Given the description of an element on the screen output the (x, y) to click on. 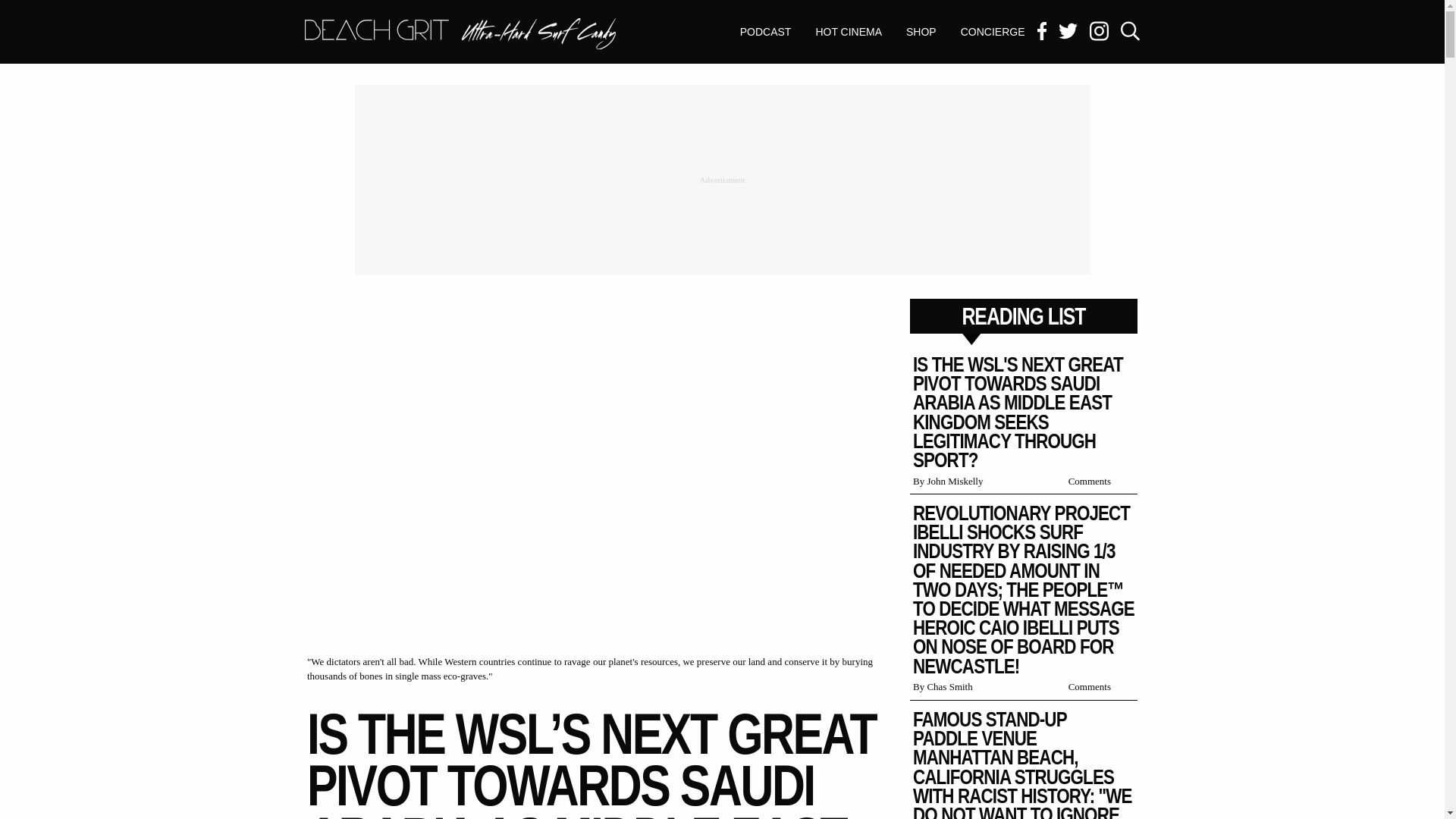
CONCIERGE (992, 31)
SHOP (921, 31)
BG-LOGO (459, 33)
PODCAST (765, 31)
HOT CINEMA (848, 31)
